Given the description of an element on the screen output the (x, y) to click on. 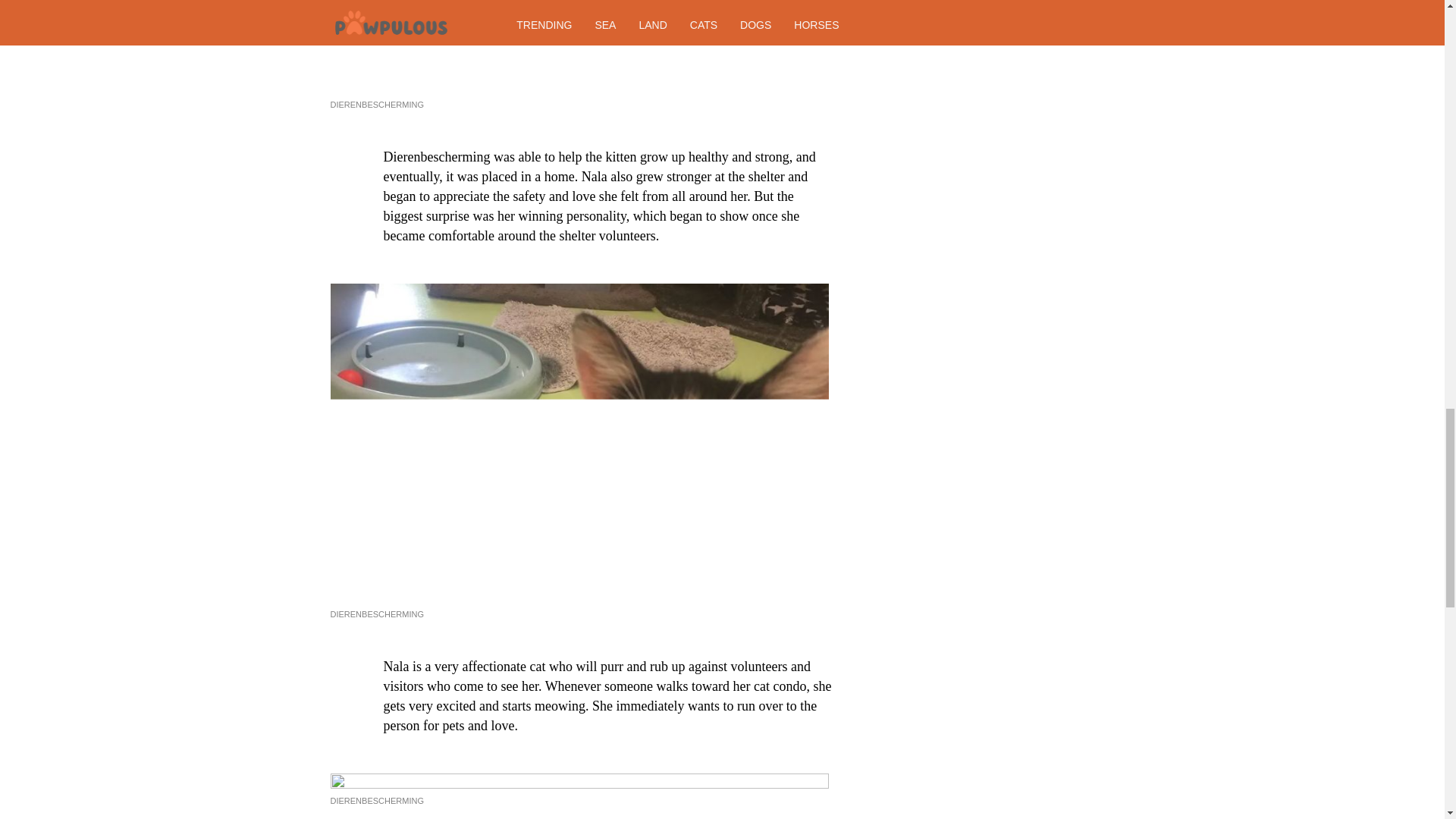
DIERENBESCHERMING (376, 800)
DIERENBESCHERMING (376, 614)
DIERENBESCHERMING (376, 103)
